Given the description of an element on the screen output the (x, y) to click on. 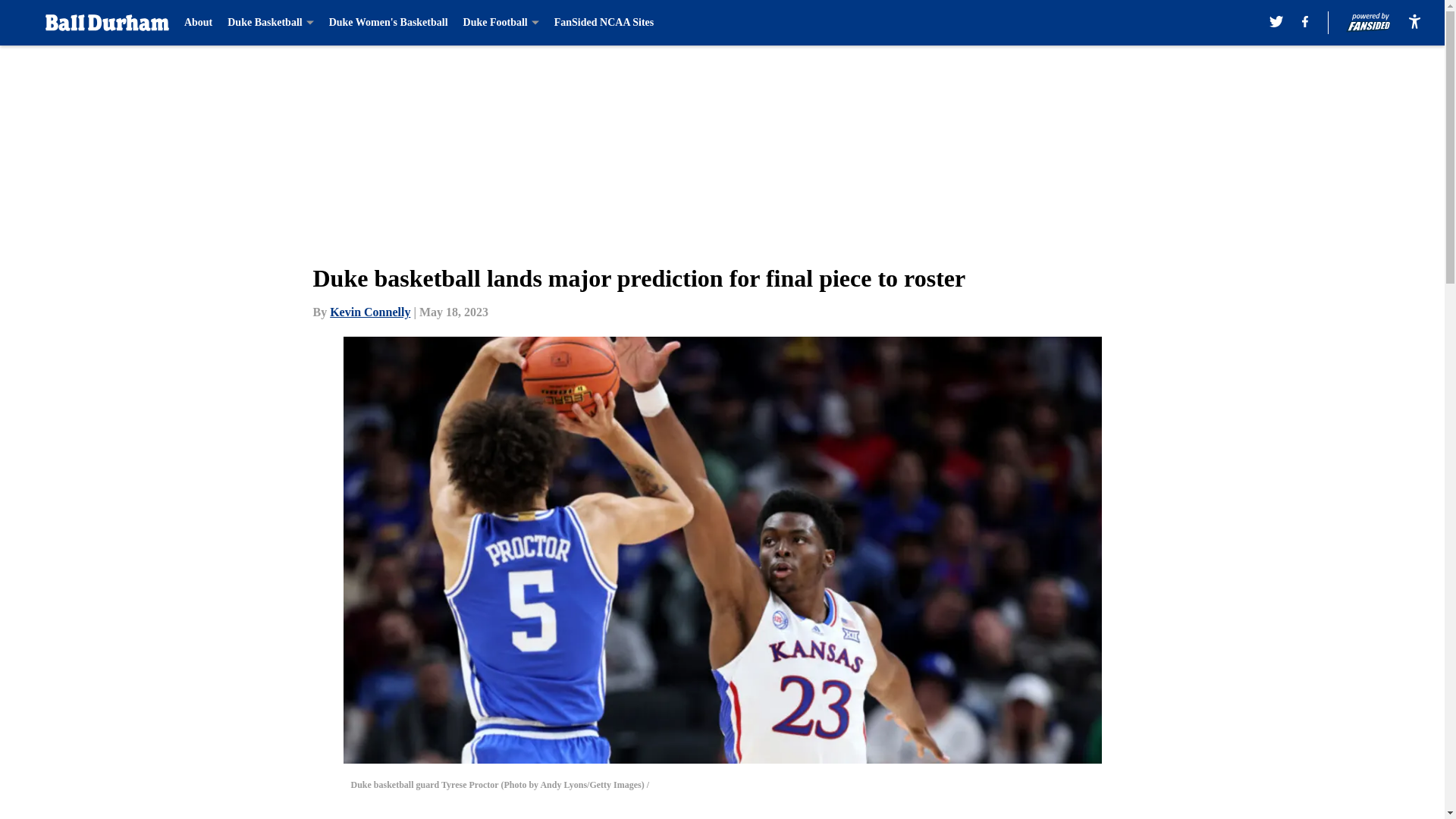
About (198, 22)
Kevin Connelly (370, 311)
FanSided NCAA Sites (603, 22)
Duke Women's Basketball (388, 22)
